Given the description of an element on the screen output the (x, y) to click on. 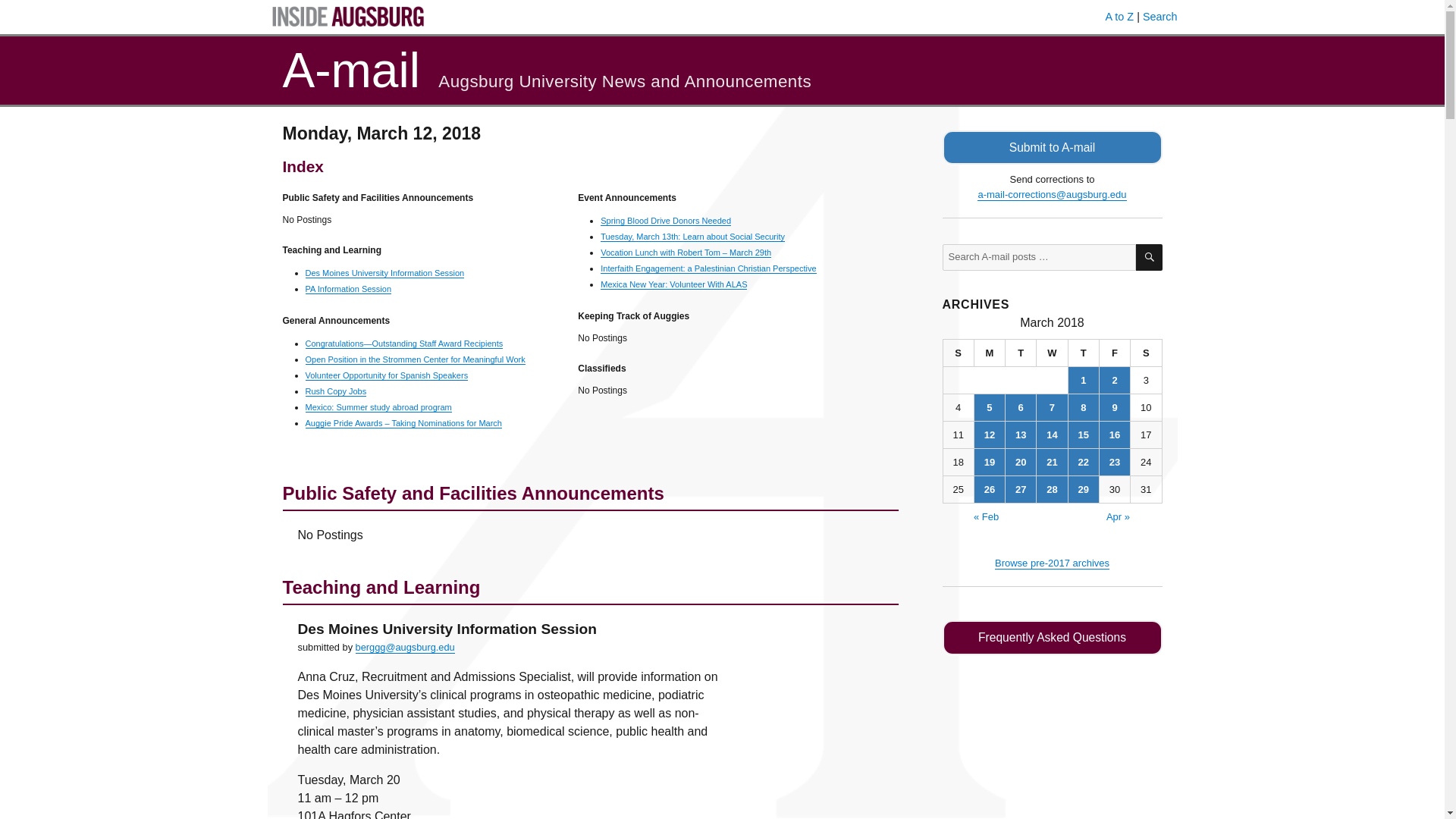
Des Moines University Information Session (384, 272)
Friday (1115, 352)
Search (1159, 16)
Saturday (1146, 352)
PA Information Session (347, 288)
Mexico: Summer study abroad program (377, 406)
Tuesday, March 13th: Learn about Social Security (691, 235)
A to Z (1119, 16)
A-mail (350, 70)
